Given the description of an element on the screen output the (x, y) to click on. 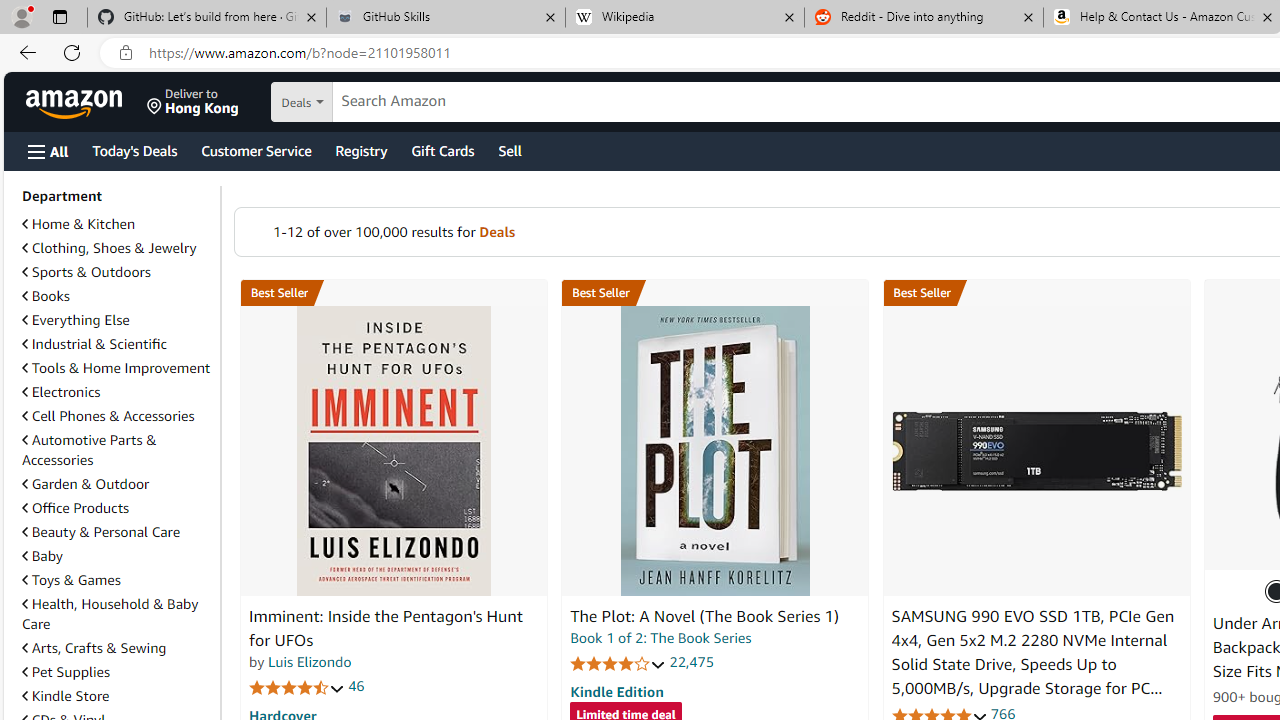
GitHub Skills (445, 17)
Wikipedia (684, 17)
4.7 out of 5 stars (297, 686)
Clothing, Shoes & Jewelry (109, 248)
22,475 (691, 662)
4.2 out of 5 stars (617, 663)
Kindle Store (65, 695)
Arts, Crafts & Sewing (93, 647)
Kindle Edition (616, 691)
Baby (41, 556)
Pet Supplies (65, 672)
Tools & Home Improvement (117, 367)
Home & Kitchen (78, 224)
Search in (371, 102)
